Given the description of an element on the screen output the (x, y) to click on. 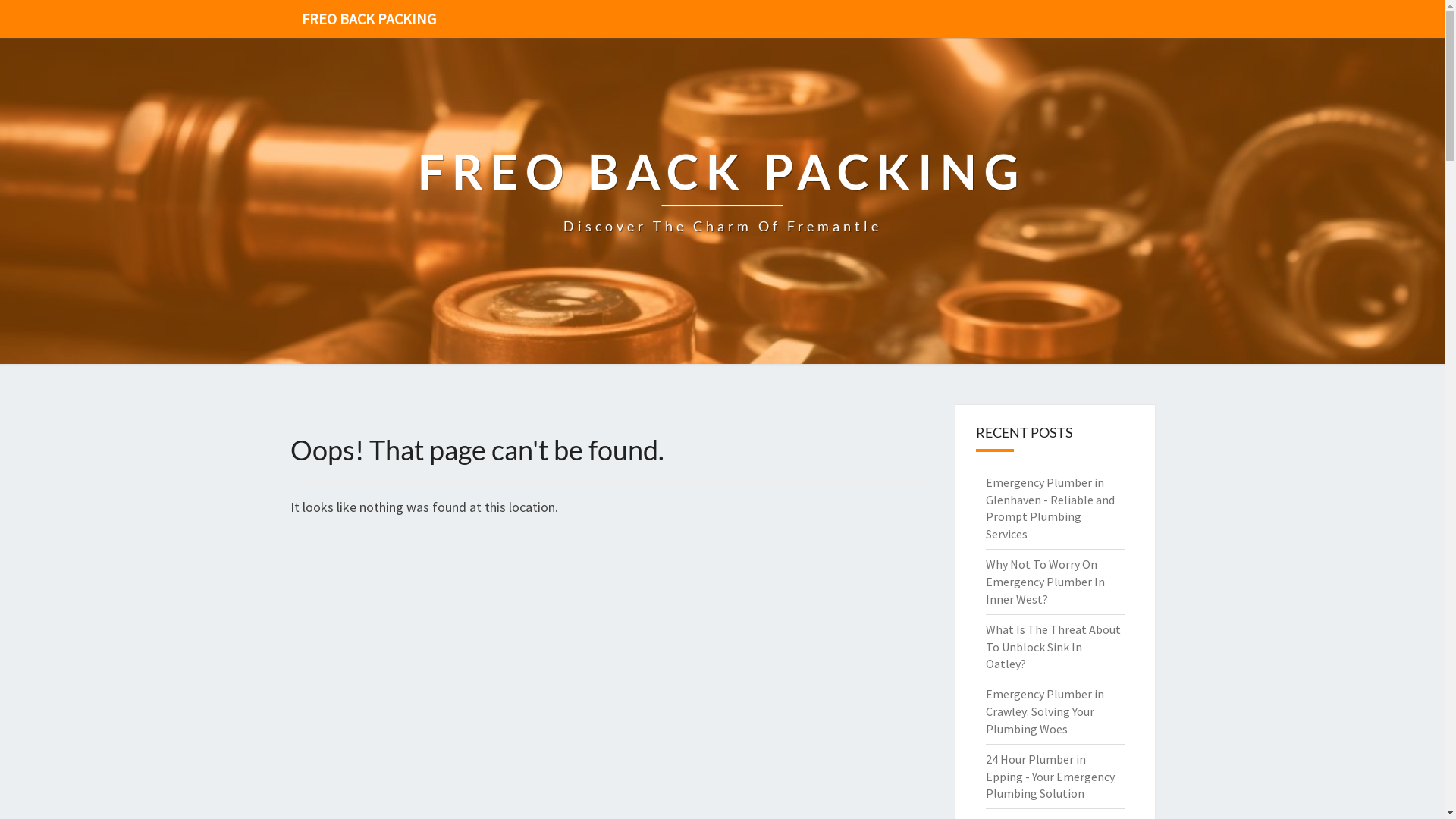
Emergency Plumber in Crawley: Solving Your Plumbing Woes Element type: text (1044, 711)
Why Not To Worry On Emergency Plumber In Inner West? Element type: text (1044, 581)
FREO BACK PACKING Element type: text (367, 18)
24 Hour Plumber in Epping - Your Emergency Plumbing Solution Element type: text (1049, 776)
What Is The Threat About To Unblock Sink In Oatley? Element type: text (1052, 646)
FREO BACK PACKING
Discover The Charm Of Fremantle Element type: text (721, 200)
